Given the description of an element on the screen output the (x, y) to click on. 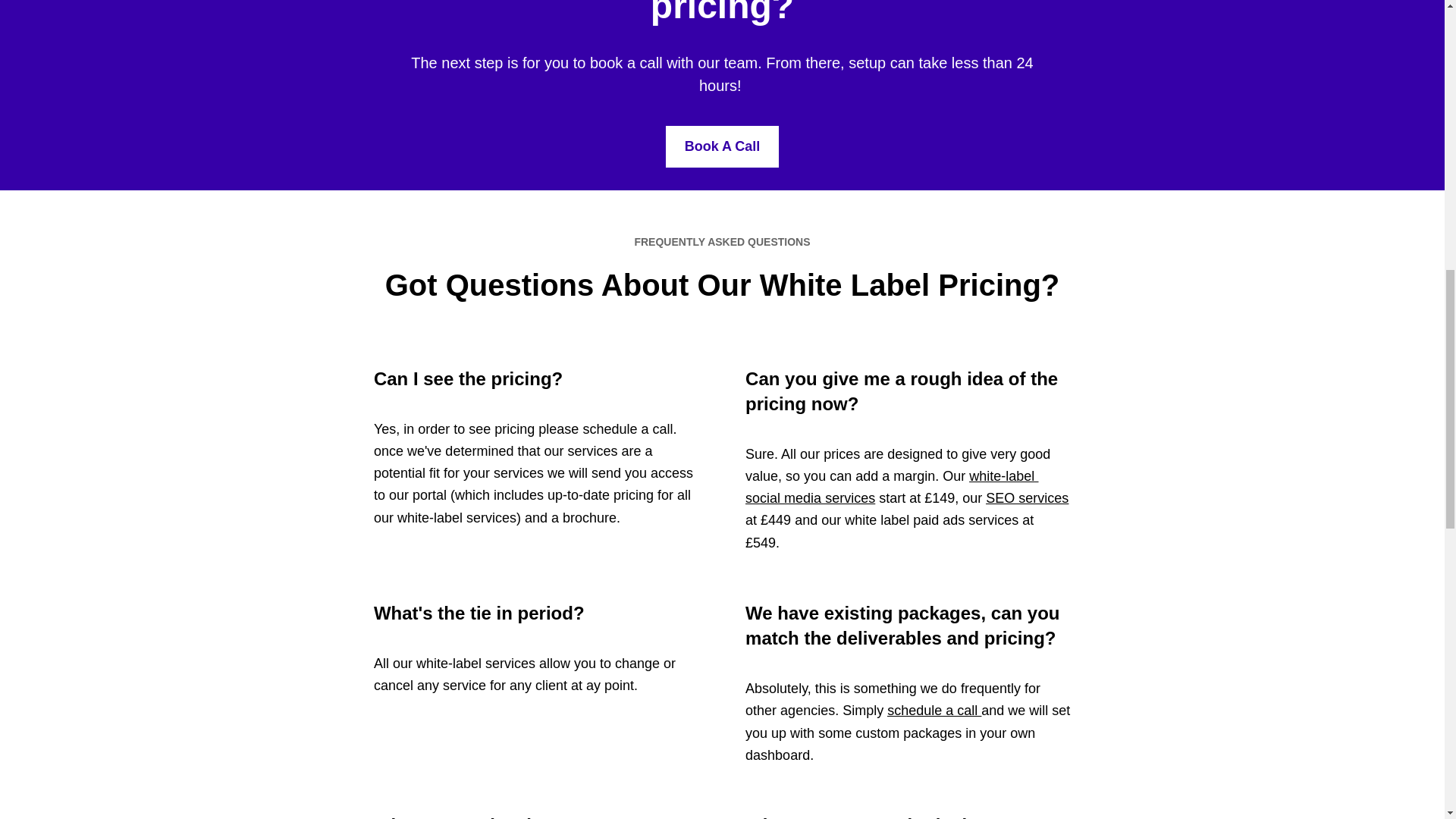
SEO services (1026, 498)
schedule a call  (933, 710)
Book A Call (721, 146)
white-label social media services (891, 487)
